Given the description of an element on the screen output the (x, y) to click on. 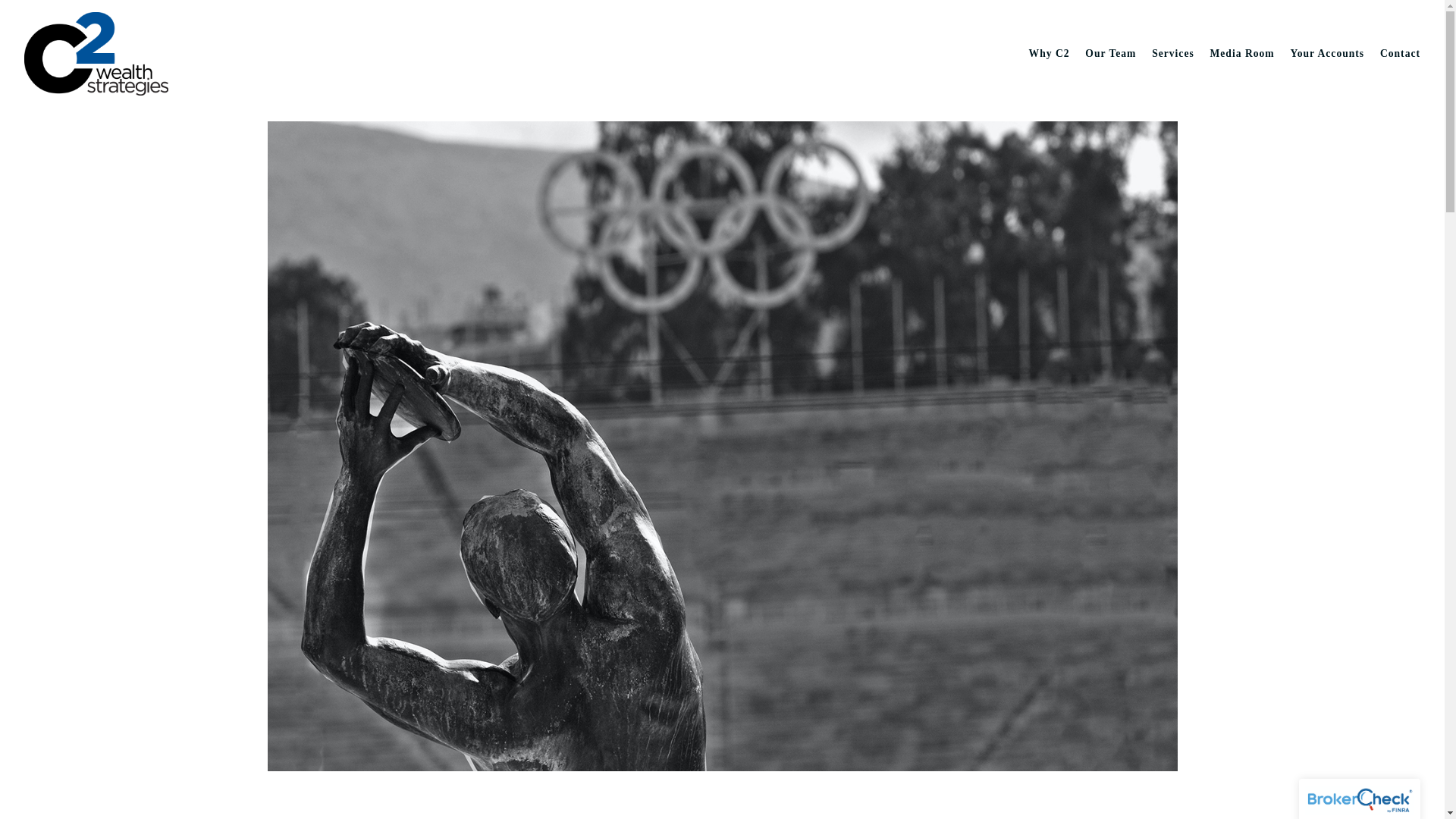
Media Room (1242, 53)
Contact (1400, 53)
Your Accounts (1327, 53)
Our Team (1109, 53)
Services (1172, 53)
